Given the description of an element on the screen output the (x, y) to click on. 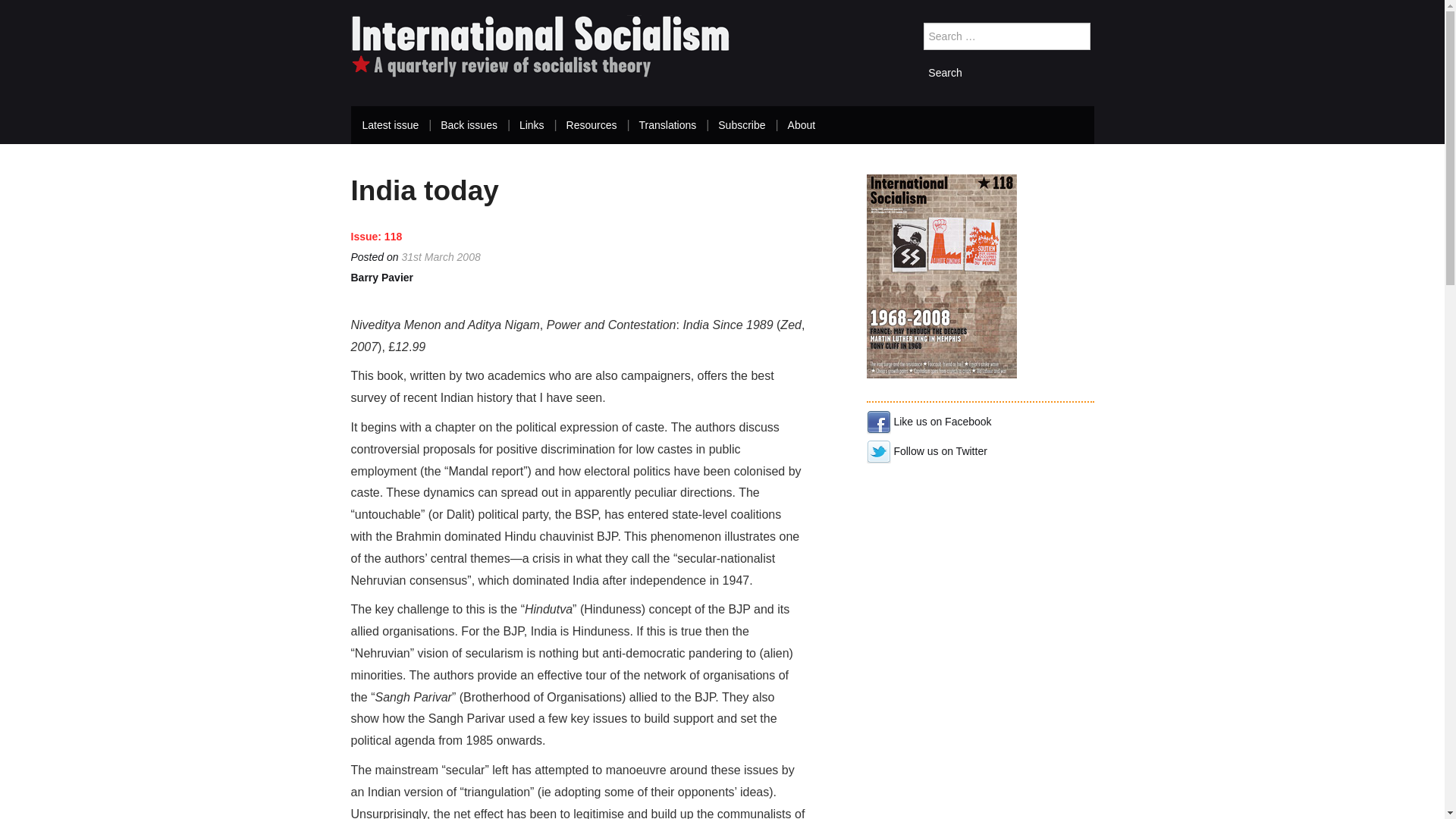
Search (945, 72)
Translations (667, 125)
Search for: (1006, 35)
Resources (591, 125)
Like us on Facebook (928, 421)
International Socialism (539, 45)
Links (532, 125)
Search (945, 72)
About (801, 125)
5:50 pm (440, 256)
